Given the description of an element on the screen output the (x, y) to click on. 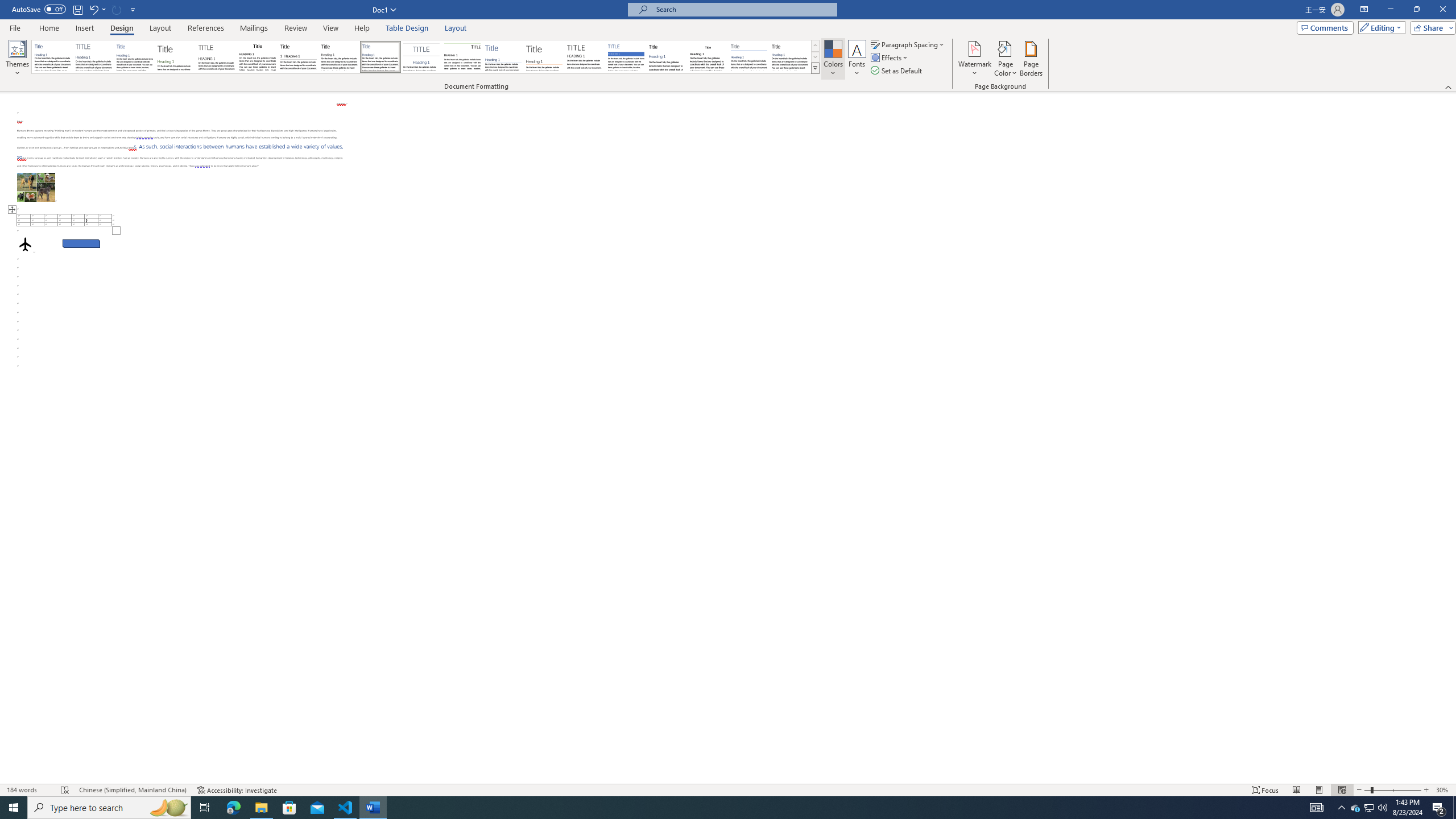
Lines (Distinctive) (462, 56)
Watermark (974, 58)
Class: MsoCommandBar (728, 45)
Class: NetUIScrollBar (1450, 437)
Undo Apply Quick Style Set (92, 9)
Casual (379, 56)
Spelling and Grammar Check Errors (65, 790)
Colors (832, 58)
Basic (Simple) (135, 56)
